Given the description of an element on the screen output the (x, y) to click on. 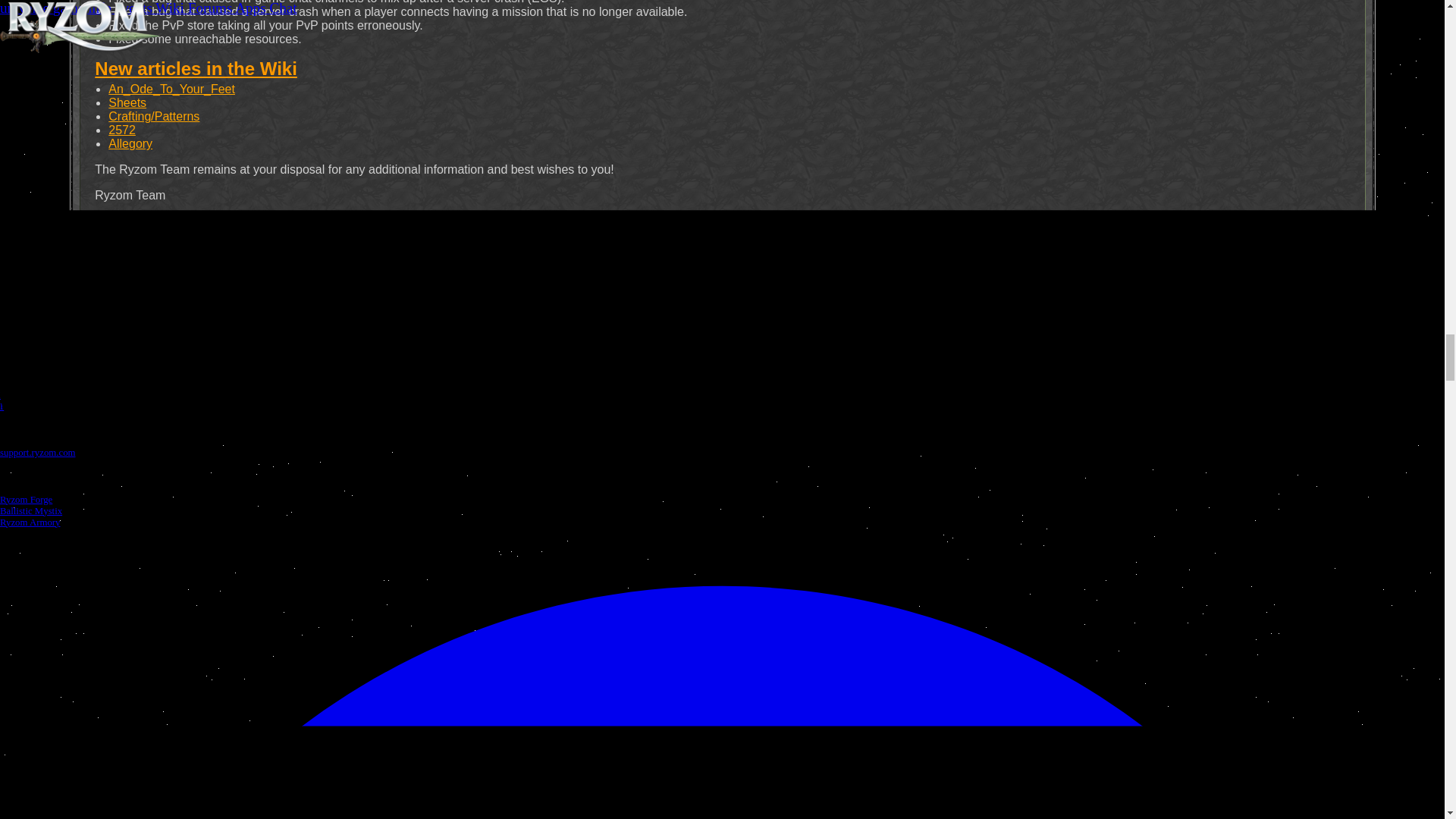
Sheets (127, 102)
Show topic (114, 245)
ryzom-api (748, 311)
Allegory (129, 143)
2572 (121, 129)
